Given the description of an element on the screen output the (x, y) to click on. 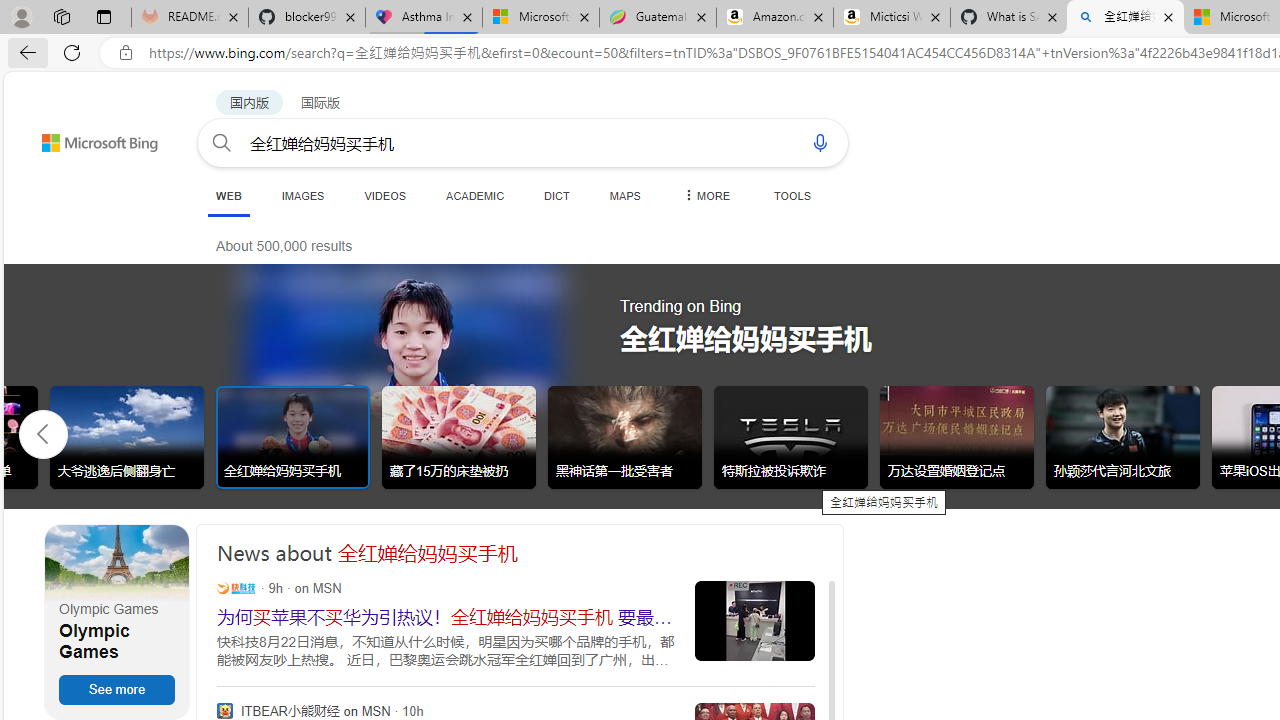
Click to scroll left (43, 432)
MAPS (624, 195)
TOOLS (792, 195)
Search using voice (820, 142)
AutomationID: tob_left_arrow (43, 433)
WEB (228, 195)
